Given the description of an element on the screen output the (x, y) to click on. 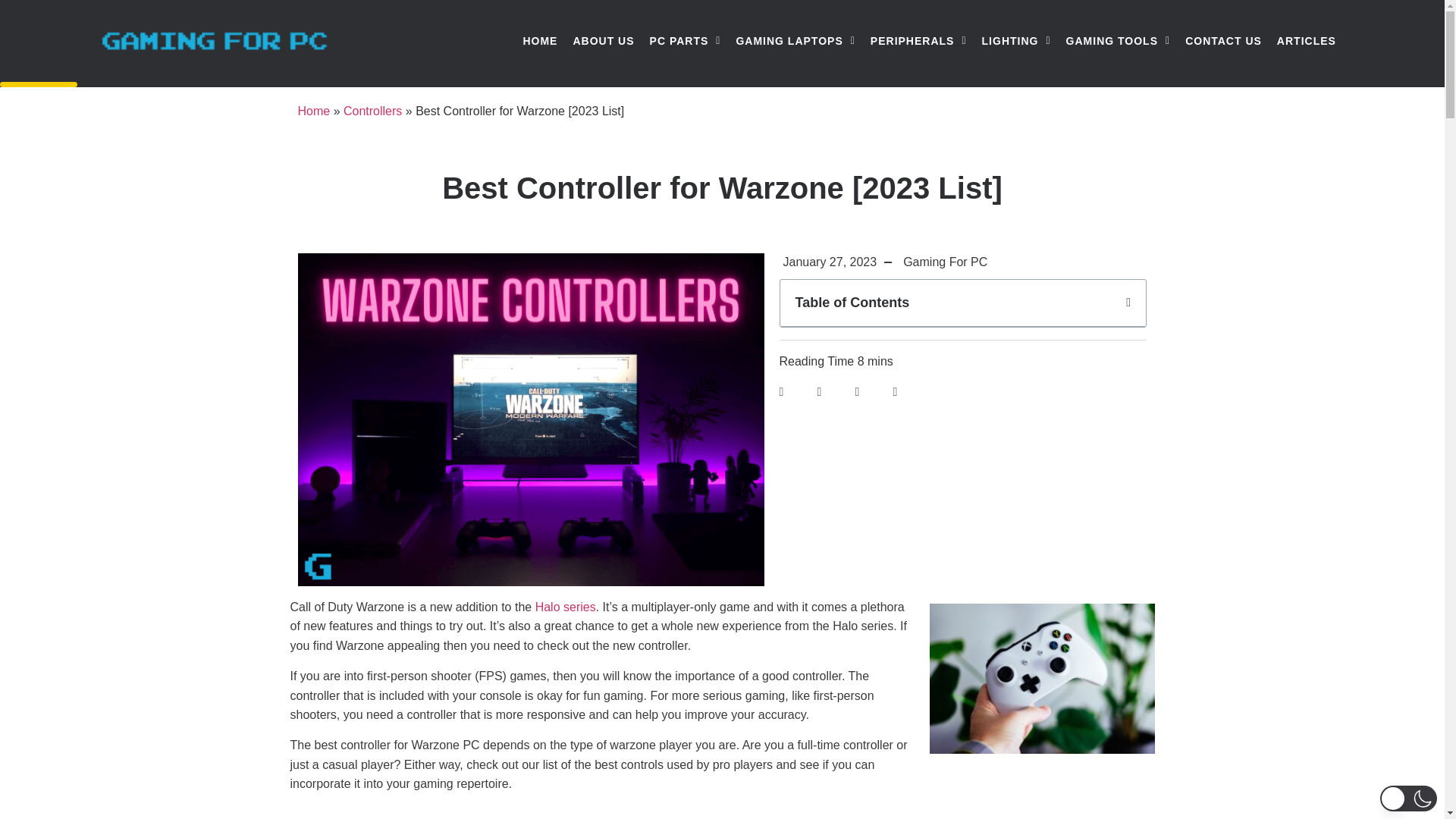
ABOUT US (603, 40)
Warzone controller review (1042, 678)
PERIPHERALS (918, 40)
GAMING LAPTOPS (794, 40)
PC PARTS (685, 40)
HOME (539, 40)
